Given the description of an element on the screen output the (x, y) to click on. 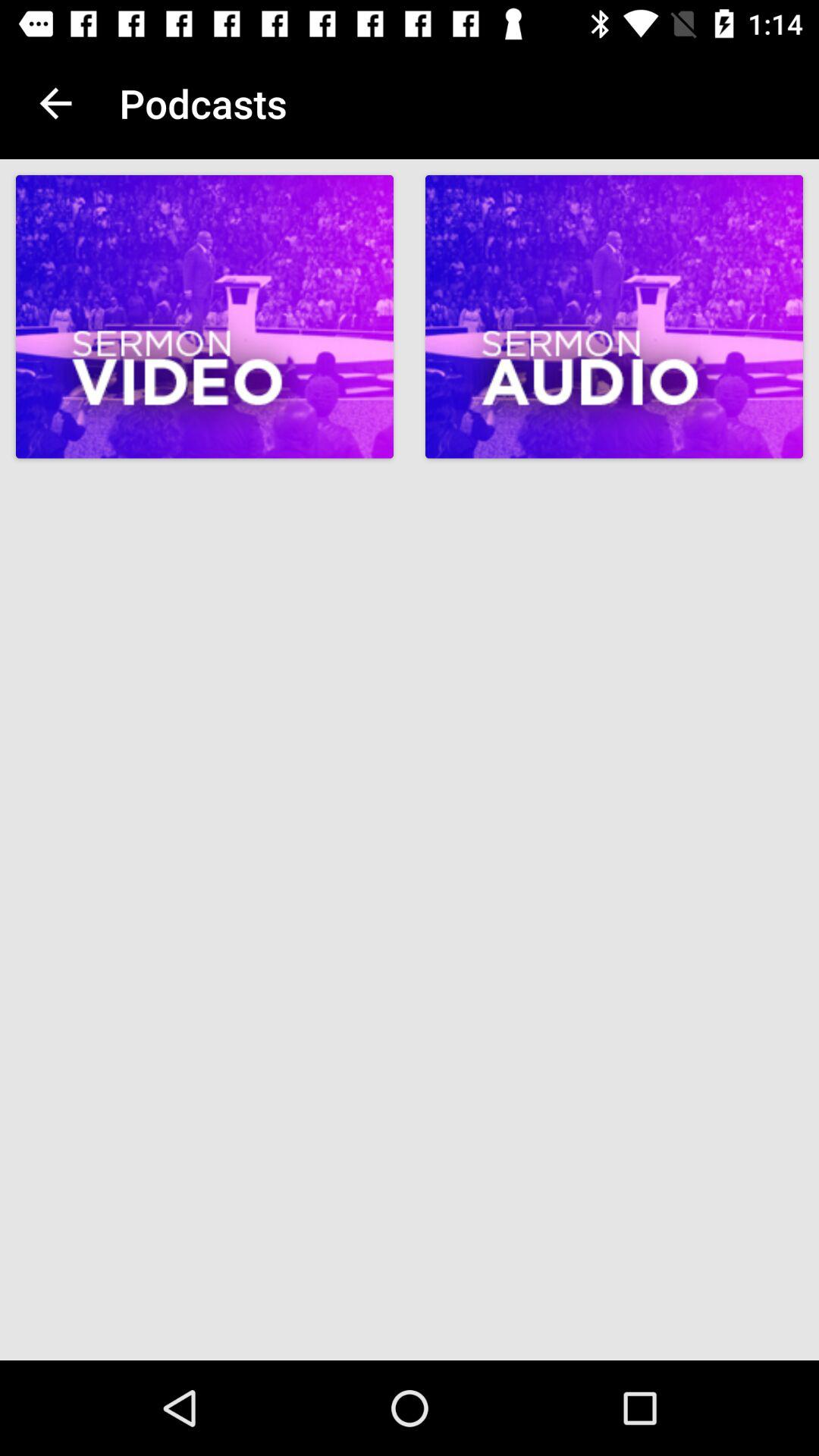
open item next to podcasts item (55, 103)
